Given the description of an element on the screen output the (x, y) to click on. 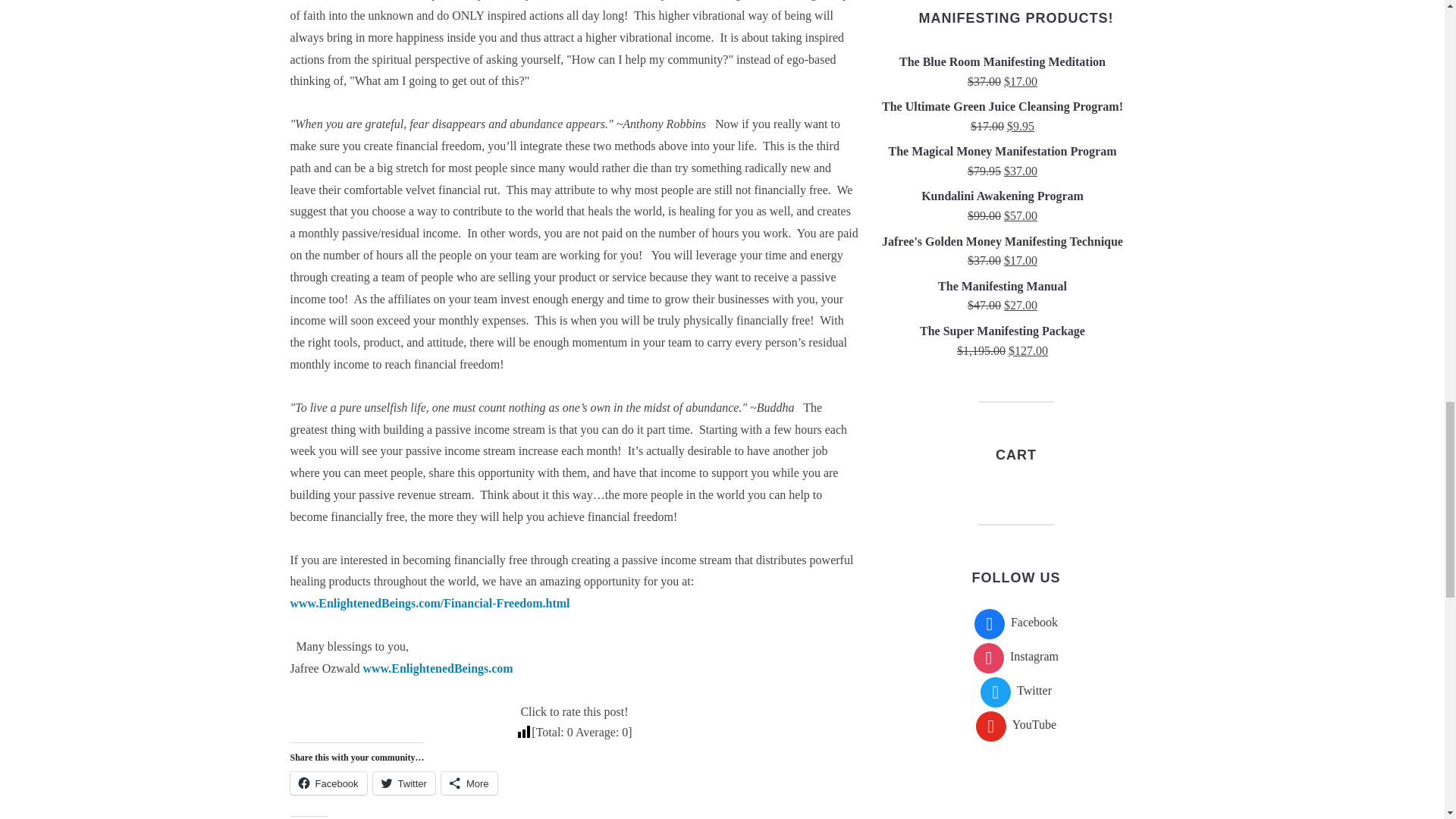
Click to share on Facebook (327, 783)
Click to share on Twitter (403, 783)
This external link will open in a new window (437, 667)
